Given the description of an element on the screen output the (x, y) to click on. 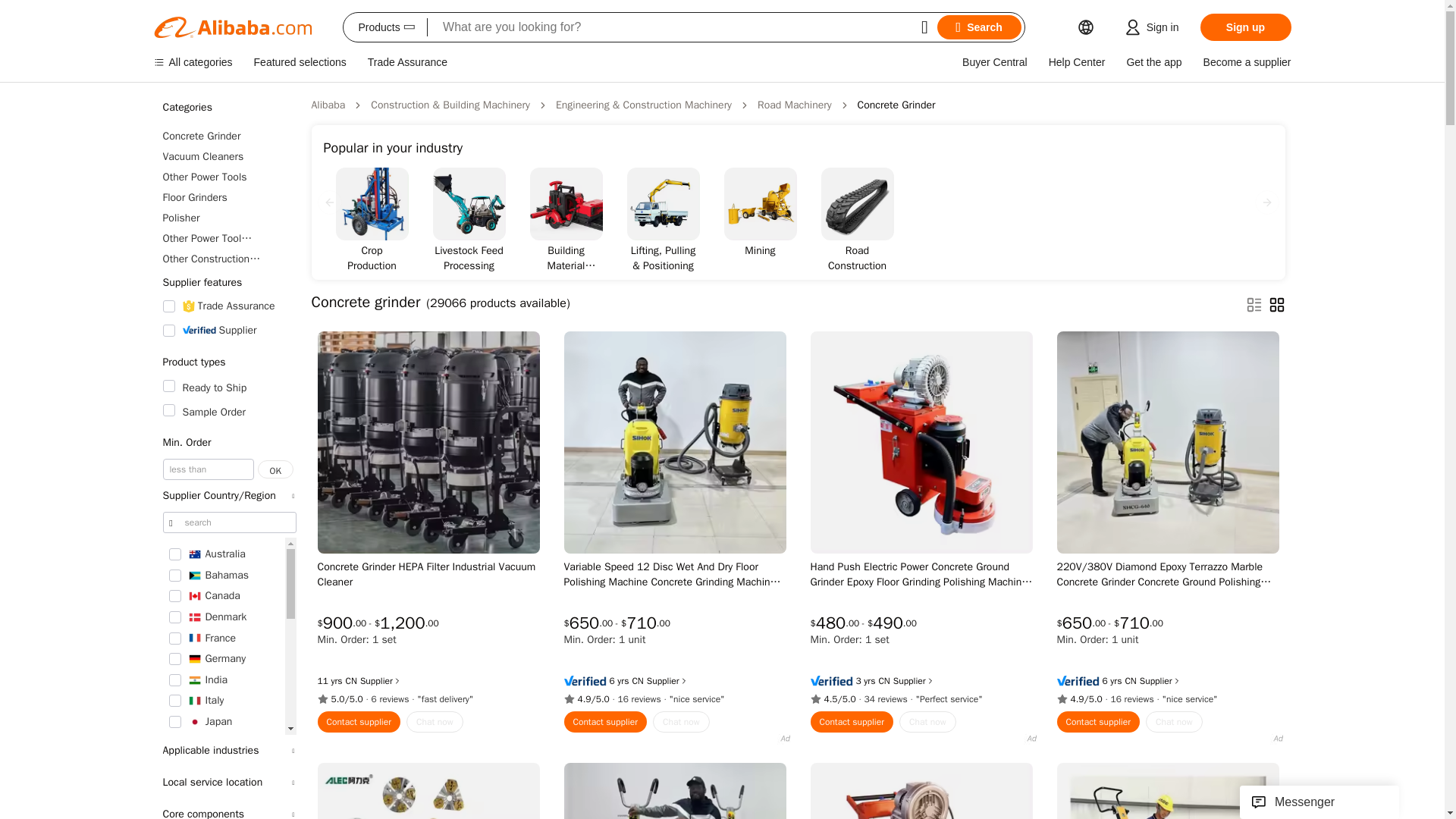
Concrete Grinder (228, 135)
Categories (228, 107)
Vacuum Cleaners (228, 156)
Other Power Tools (228, 176)
